Given the description of an element on the screen output the (x, y) to click on. 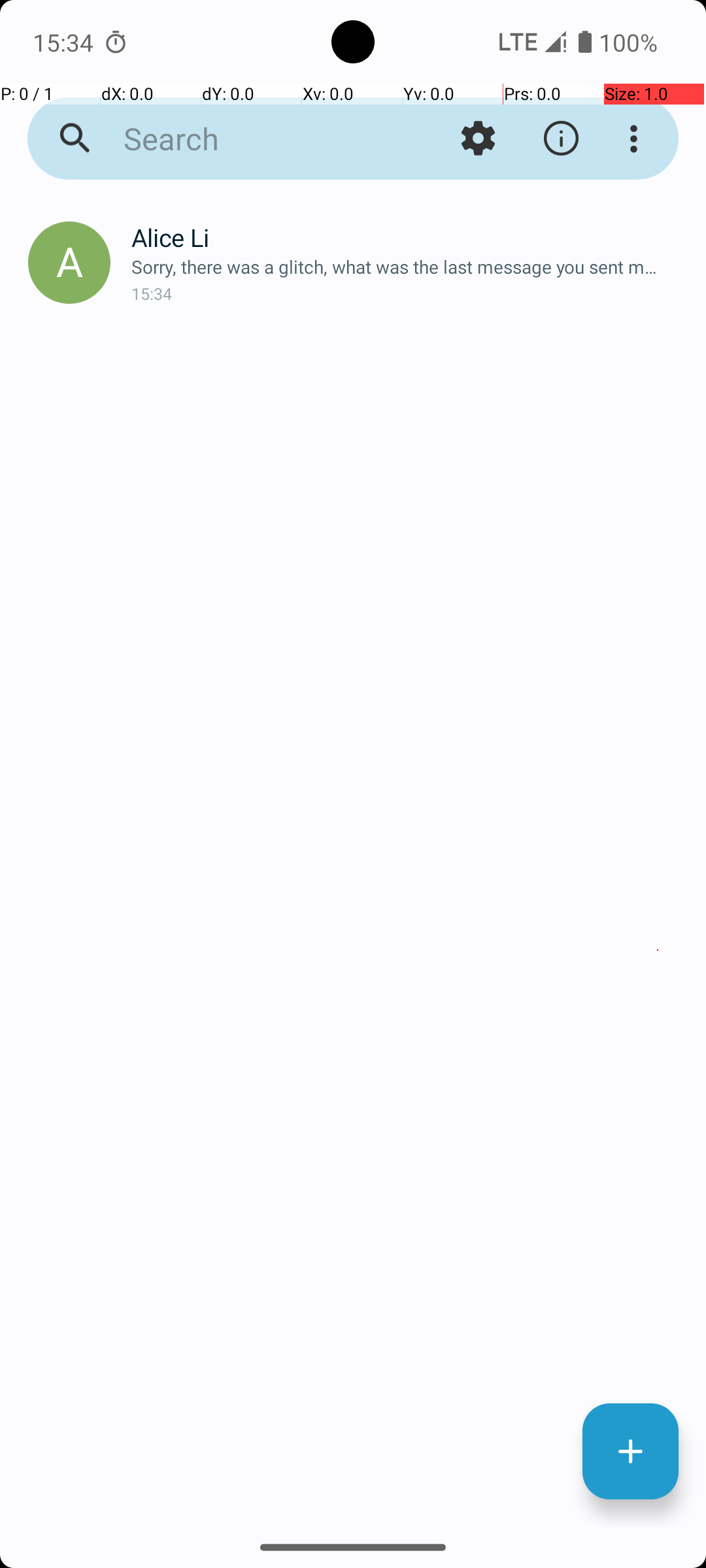
Alice Li Element type: android.widget.TextView (408, 237)
